Given the description of an element on the screen output the (x, y) to click on. 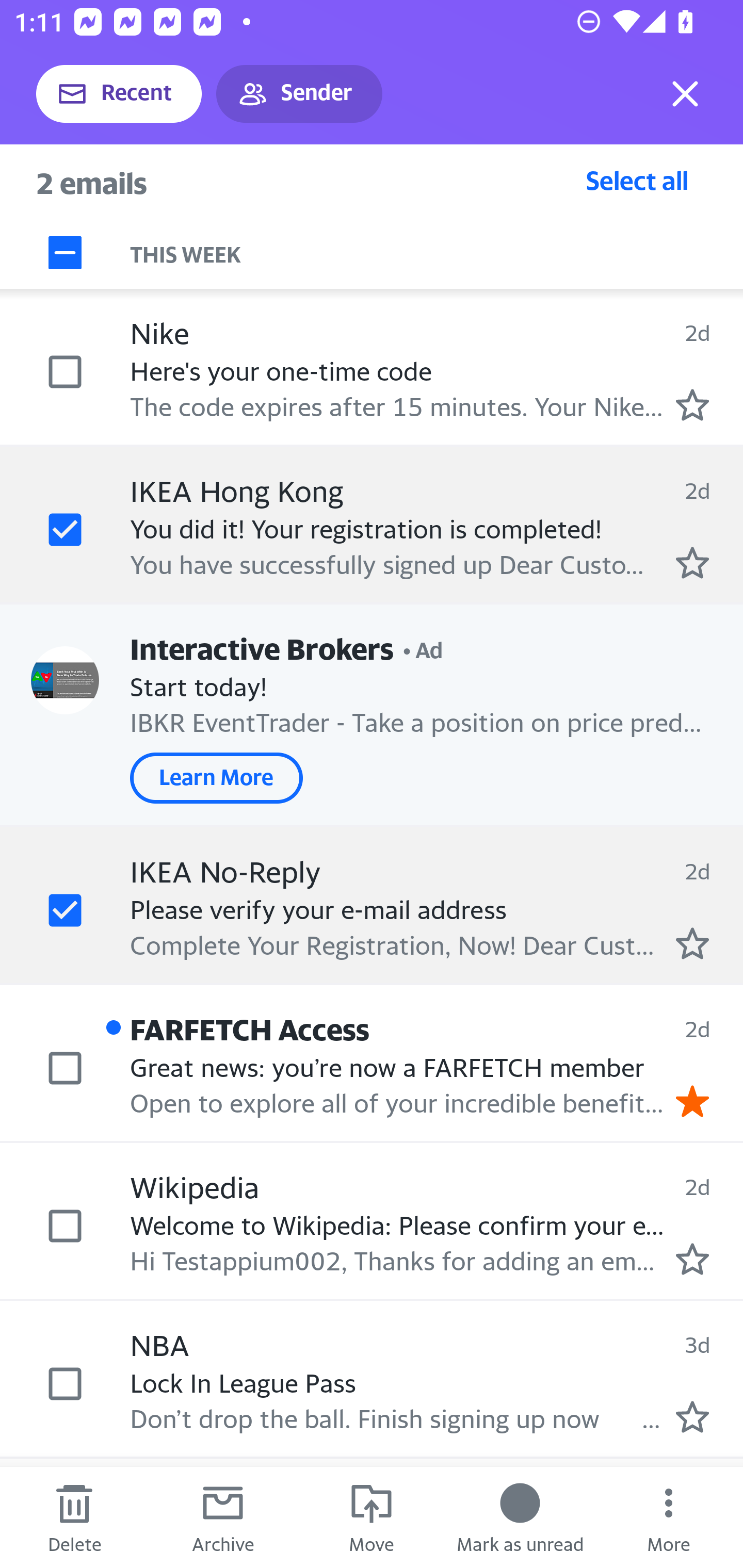
Sender (299, 93)
Exit selection mode (684, 93)
Select all (637, 180)
Mark as starred. (692, 405)
Mark as starred. (692, 562)
Mark as starred. (692, 943)
Remove star. (692, 1101)
Mark as starred. (692, 1258)
Mark as starred. (692, 1416)
Delete (74, 1517)
Archive (222, 1517)
Move (371, 1517)
Mark as unread (519, 1517)
More (668, 1517)
